Given the description of an element on the screen output the (x, y) to click on. 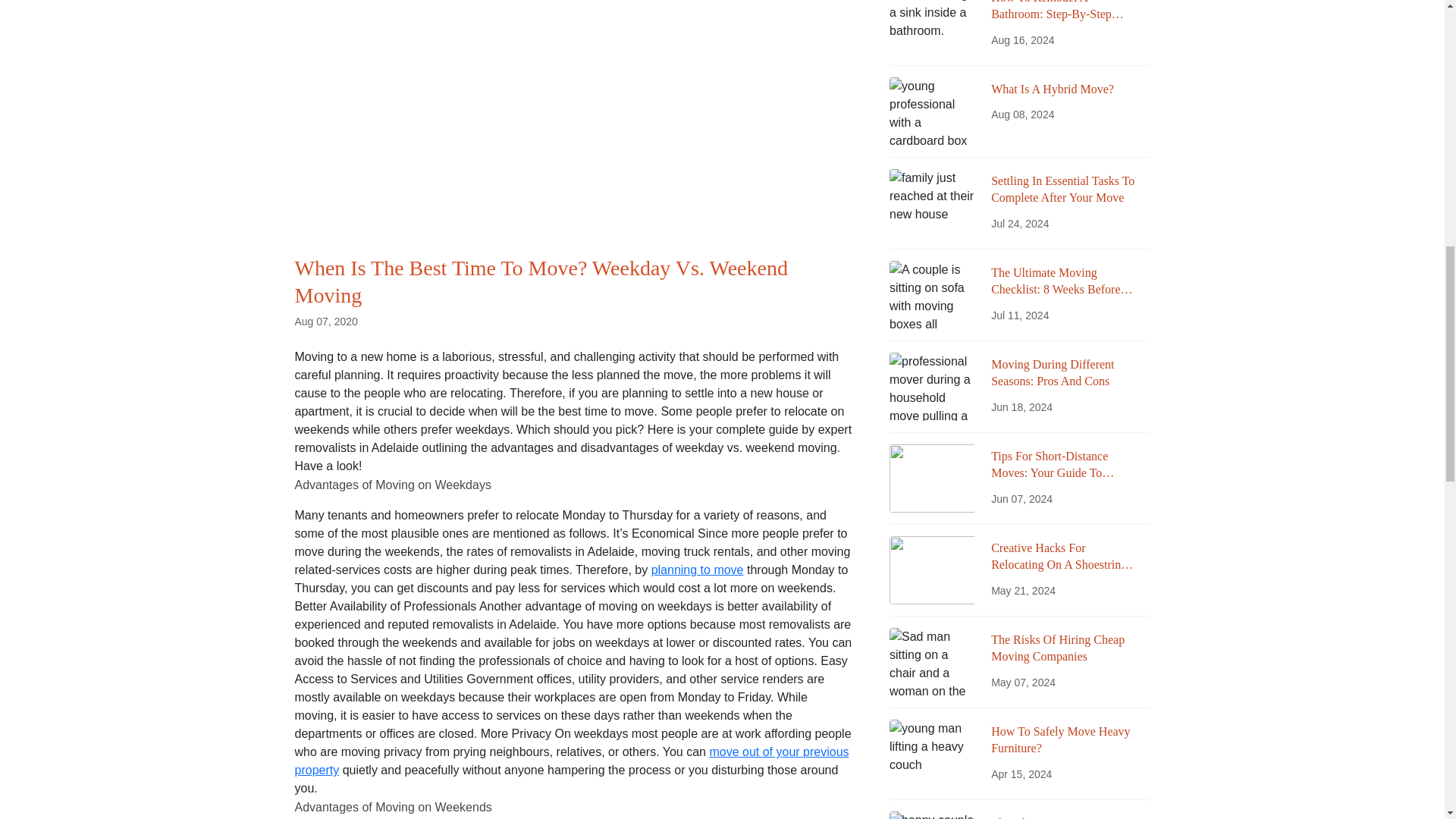
How To Remodel A Bathroom: Step-By-Step Guide (1062, 11)
The Ultimate Moving Checklist: 8 Weeks Before Move-In Day (1062, 281)
What Is A Hybrid Move? (1062, 89)
move out of your previous property (571, 760)
planning to move (697, 569)
Settling In Essential Tasks To Complete After Your Move (1062, 189)
Moving During Different Seasons: Pros And Cons (1062, 373)
Tips For Short-Distance Moves: Your Guide To Moving Locally (1062, 464)
